Given the description of an element on the screen output the (x, y) to click on. 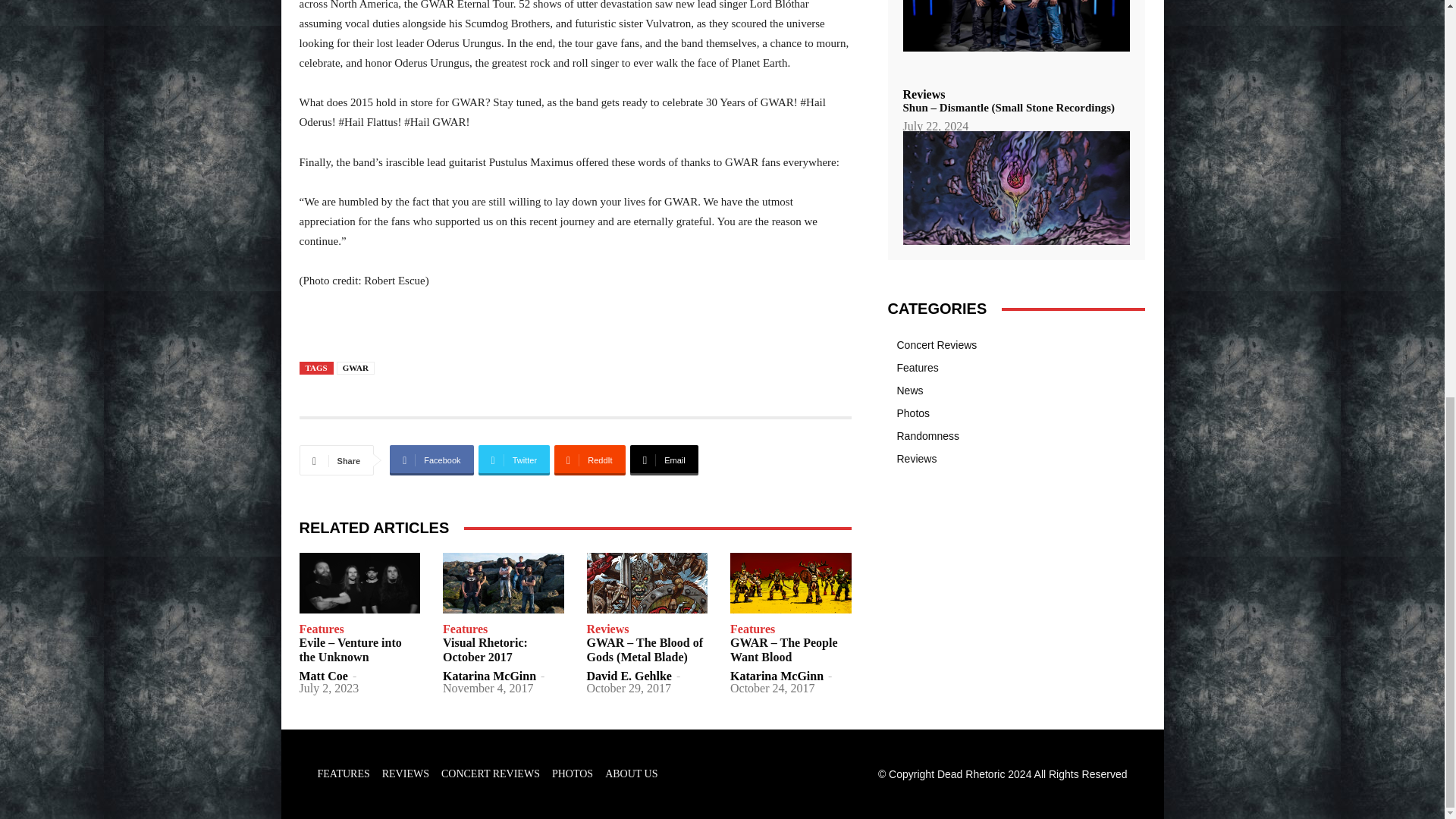
Twitter (514, 460)
Features (464, 629)
Email (664, 460)
Reviews (607, 629)
Facebook (431, 460)
David E. Gehlke (628, 675)
Matt Coe (322, 675)
Visual Rhetoric: October 2017 (484, 649)
Features (320, 629)
Facebook (431, 460)
Katarina McGinn (488, 675)
GWAR (355, 367)
ReddIt (590, 460)
ReddIt (590, 460)
Email (664, 460)
